Given the description of an element on the screen output the (x, y) to click on. 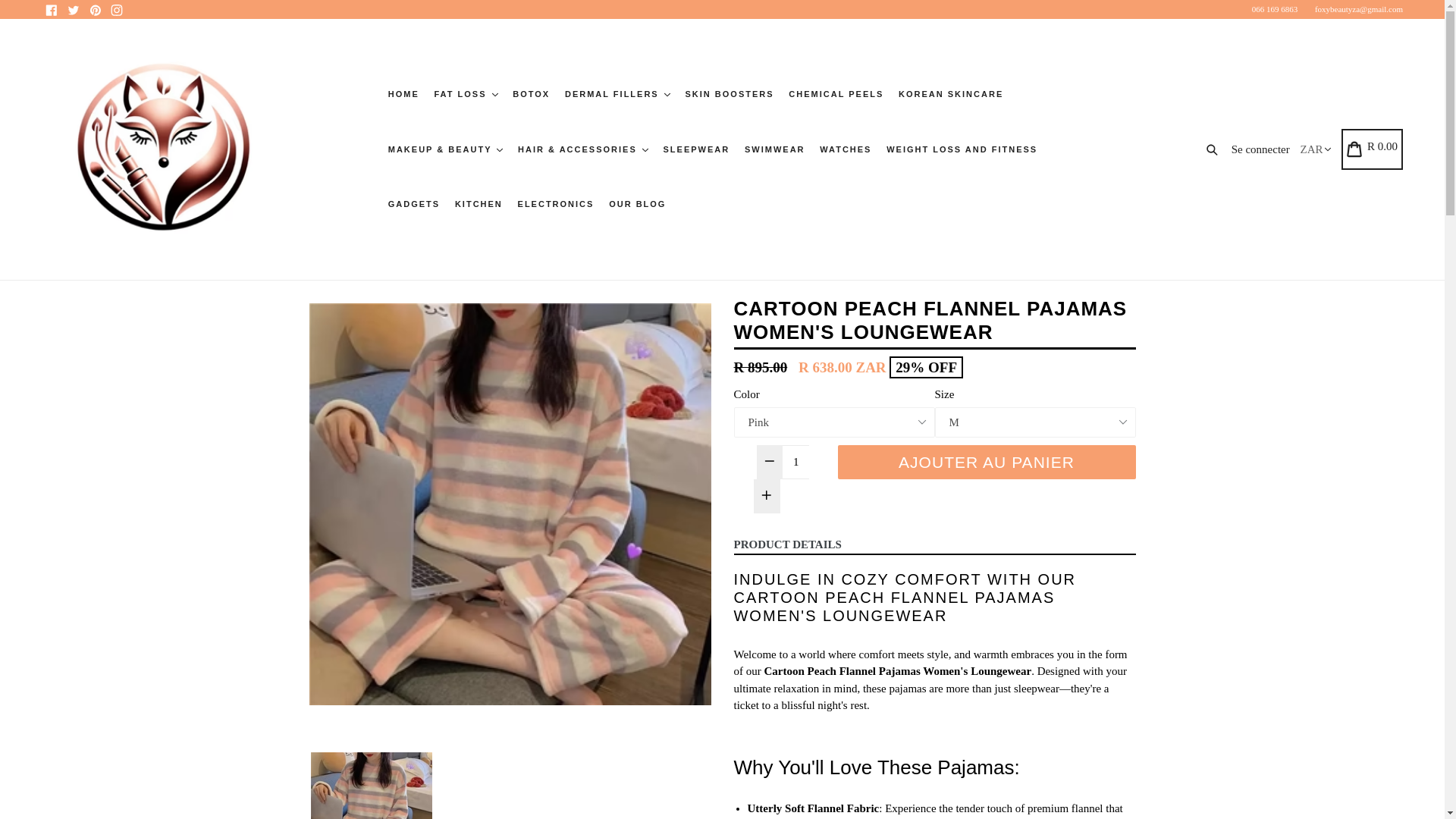
Foxy Beauty sur Instagram (116, 9)
Foxy Beauty sur Twitter (73, 9)
Foxy Beauty sur Pinterest (94, 9)
Foxy Beauty sur Facebook (51, 9)
